Given the description of an element on the screen output the (x, y) to click on. 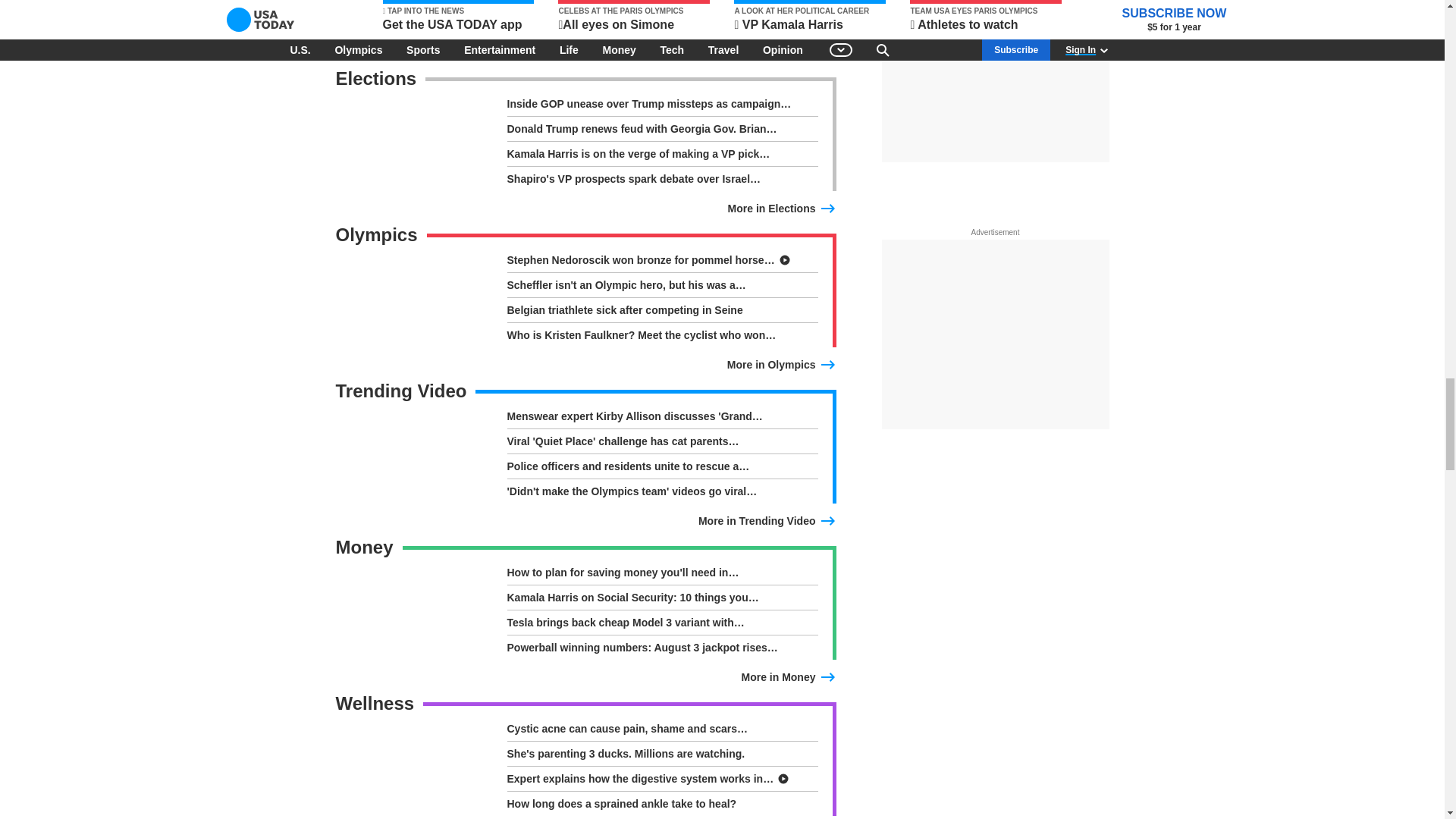
Donald Trump renews feud with Georgia Gov. Brian Kemp (661, 131)
National Chocolate Chip Cookie Day deals ending soon (661, 5)
